Given the description of an element on the screen output the (x, y) to click on. 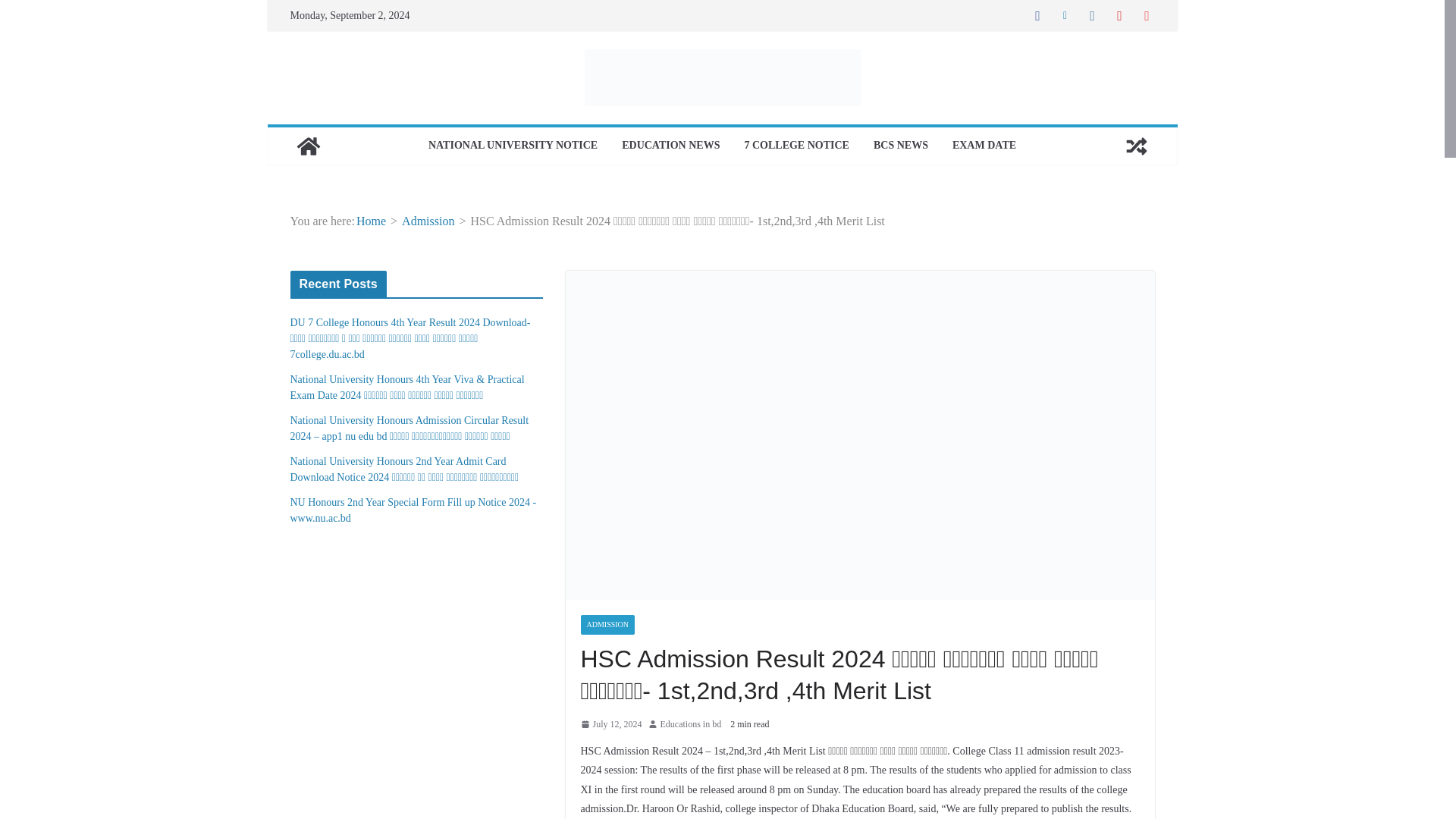
12:21 AM (611, 724)
ADMISSION (607, 624)
Educations in bd (691, 724)
BCS NEWS (900, 146)
Educations in bd (691, 724)
EducationsInBD (307, 145)
EXAM DATE (984, 146)
Admission (427, 220)
View a random post (1136, 145)
7 COLLEGE NOTICE (796, 146)
